Given the description of an element on the screen output the (x, y) to click on. 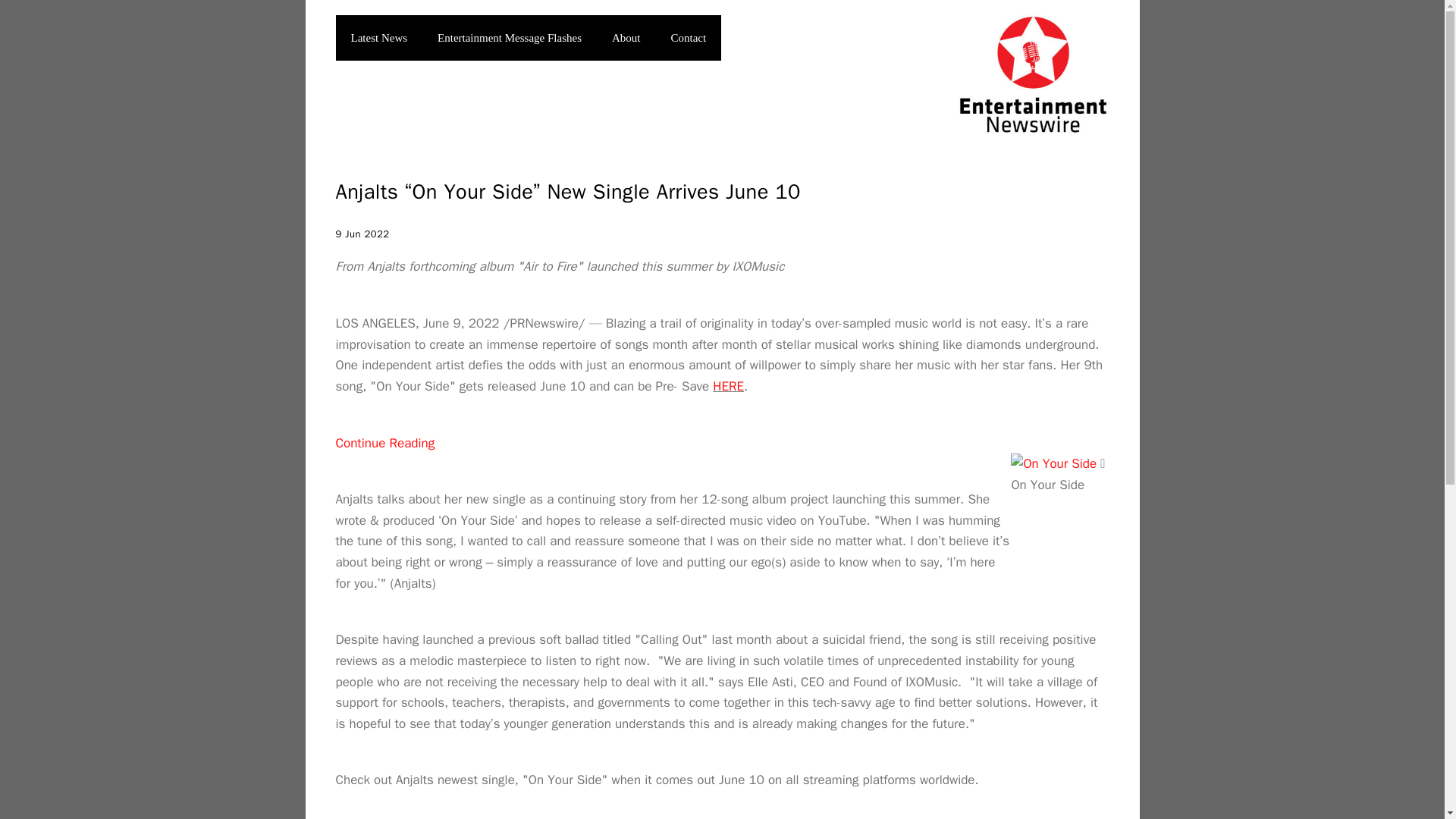
On Your Side (1053, 464)
Continue Reading (383, 442)
Latest News (378, 37)
Entertainment Message Flashes (509, 37)
About (626, 37)
HERE (728, 385)
Continue Reading (383, 442)
Contact (689, 37)
